Given the description of an element on the screen output the (x, y) to click on. 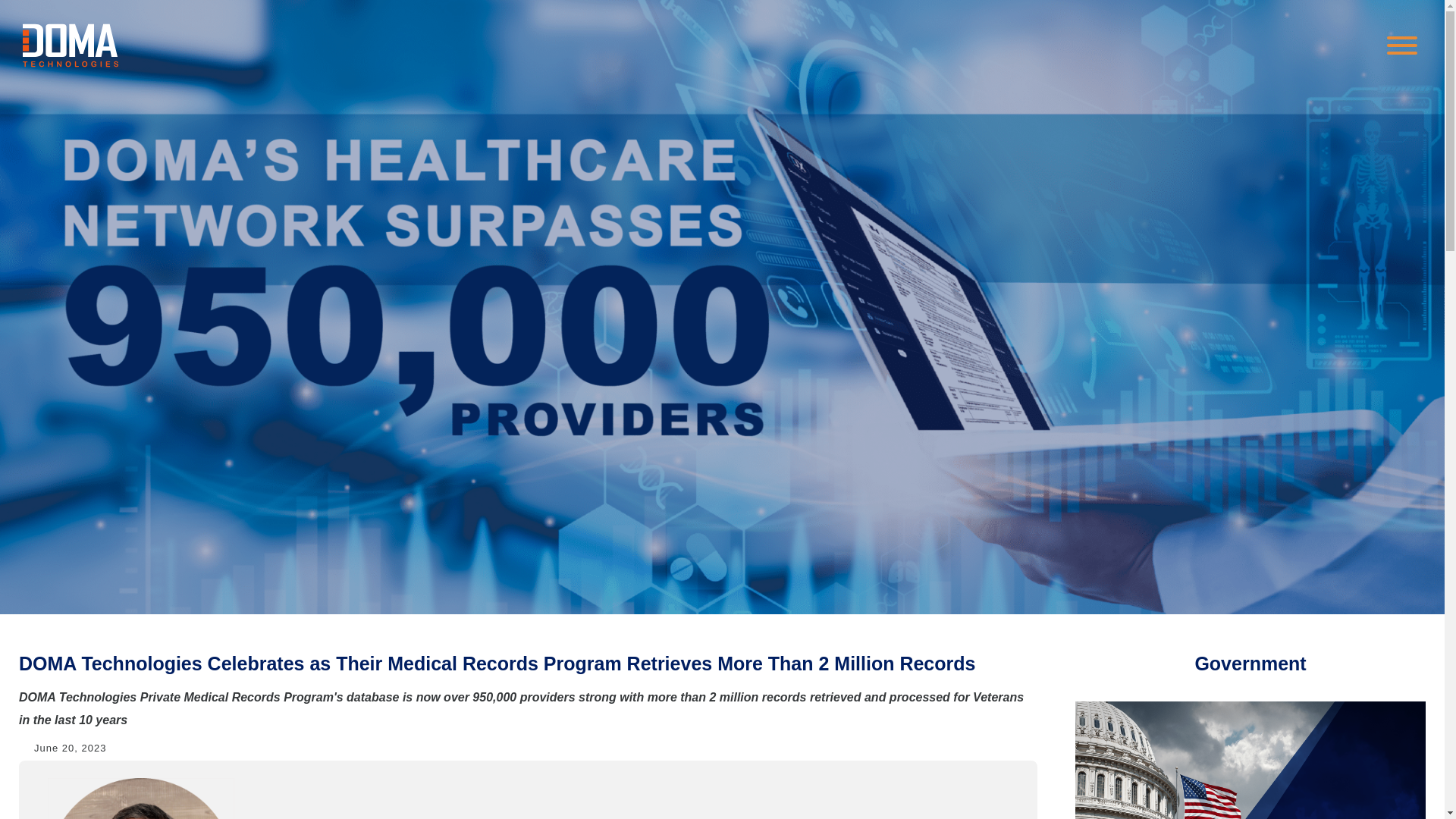
Search (34, 17)
